Given the description of an element on the screen output the (x, y) to click on. 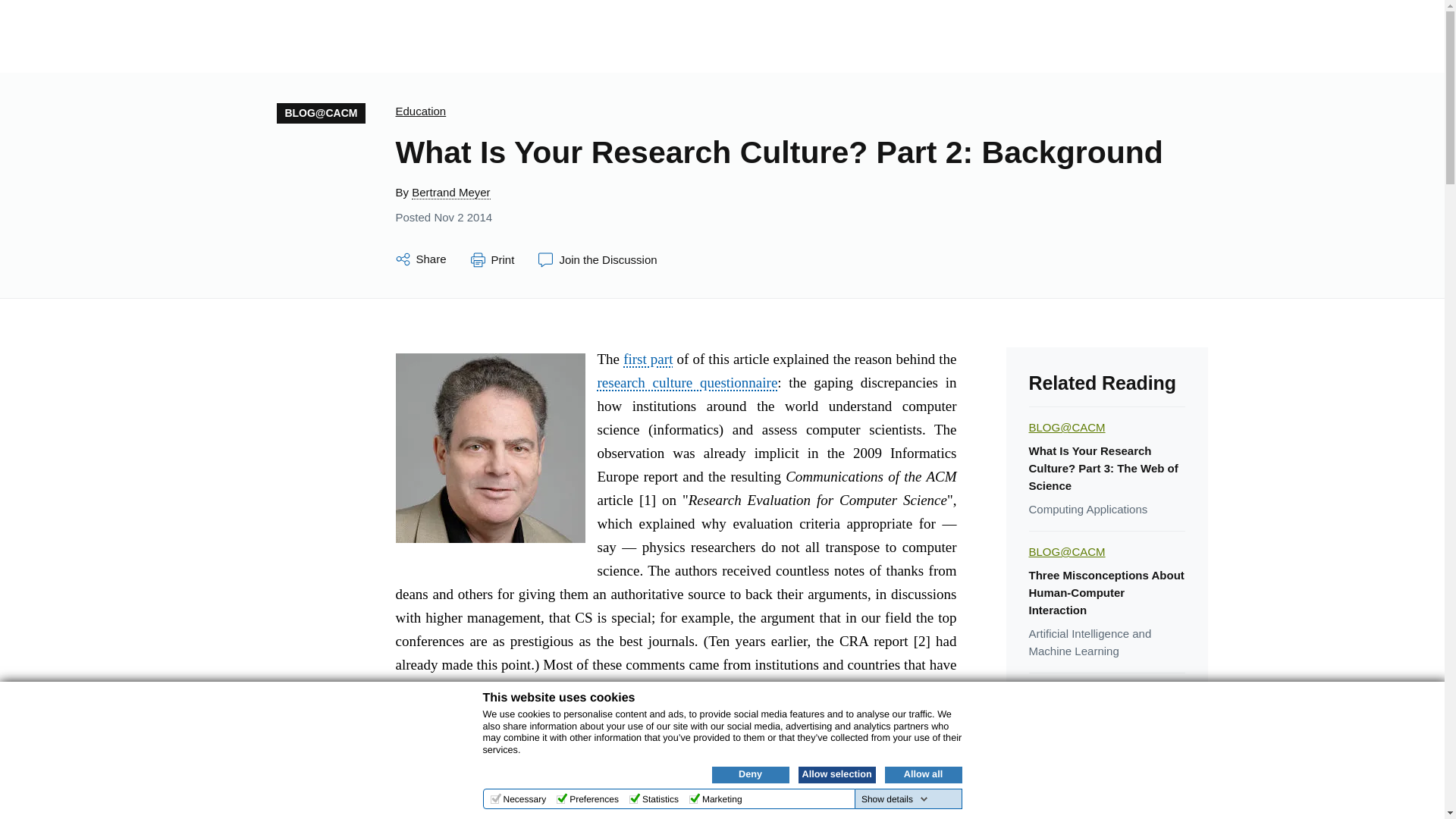
Show details (895, 799)
Deny (750, 774)
Allow all (921, 774)
Allow selection (836, 774)
